Given the description of an element on the screen output the (x, y) to click on. 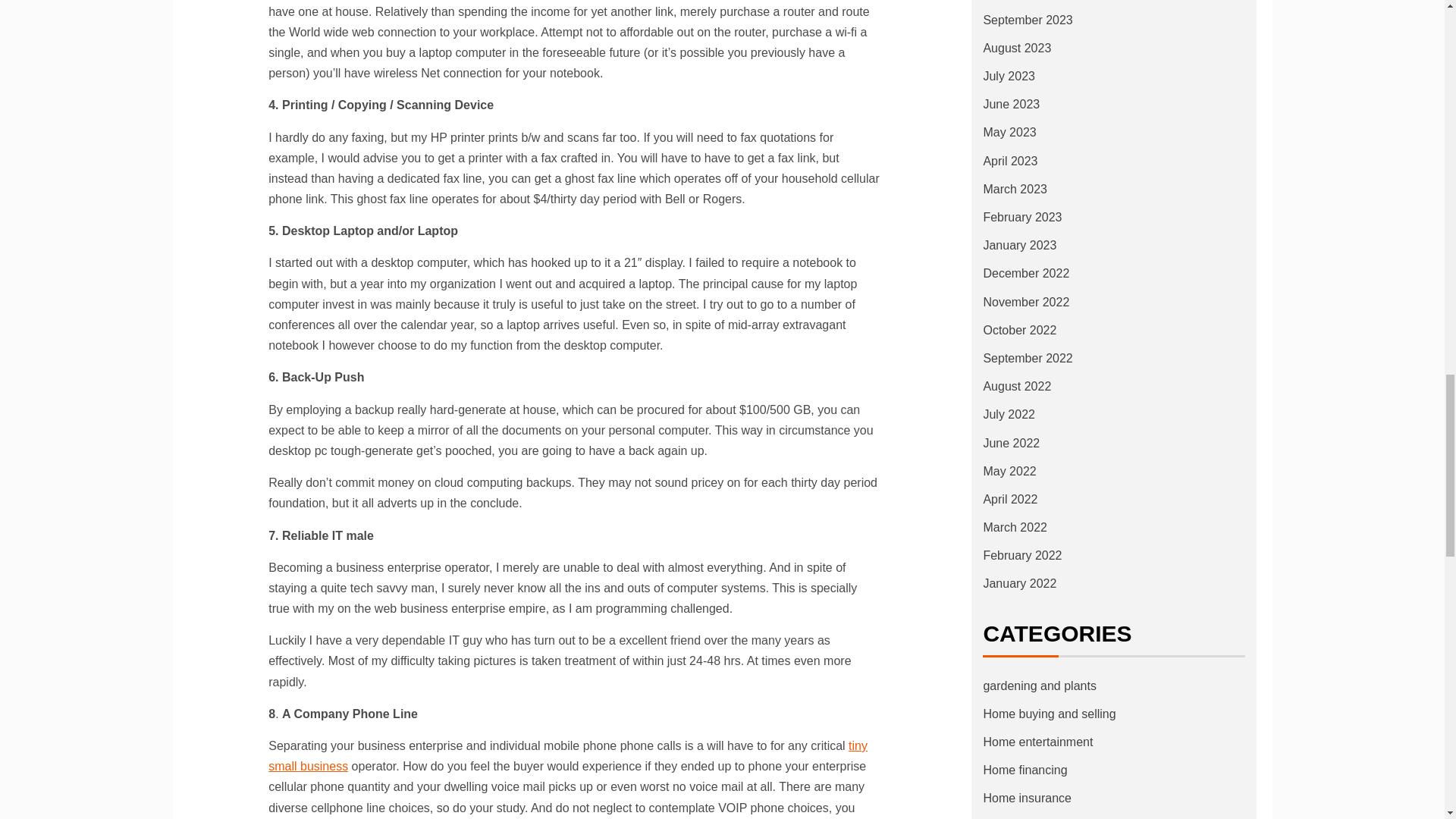
tiny small business (567, 756)
